Given the description of an element on the screen output the (x, y) to click on. 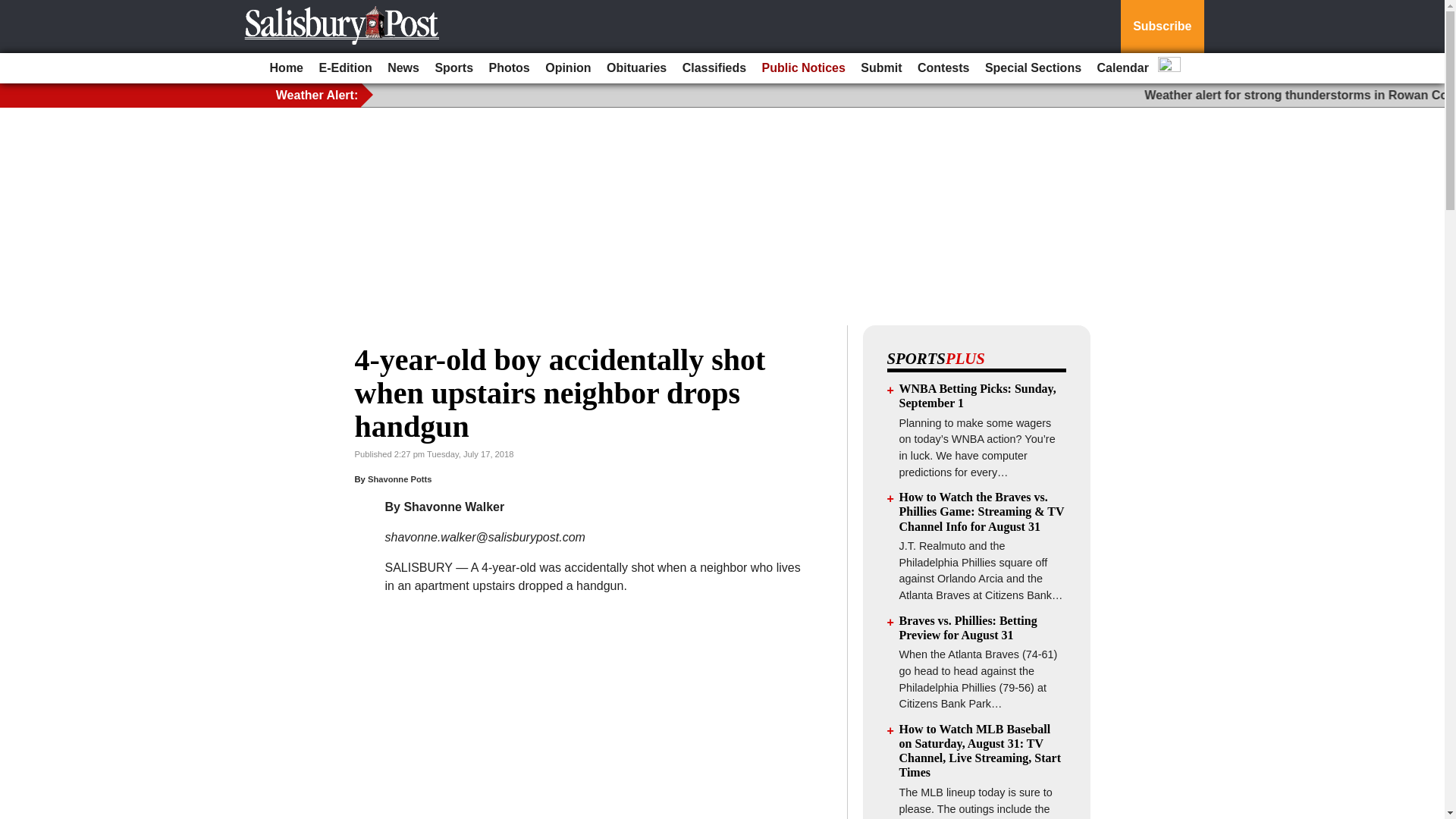
Contests (943, 68)
News (403, 68)
E-Edition (345, 68)
Subscribe (1162, 26)
Photos (509, 68)
Special Sections (1032, 68)
Home (285, 68)
Opinion (567, 68)
Sports (453, 68)
Obituaries (635, 68)
